Given the description of an element on the screen output the (x, y) to click on. 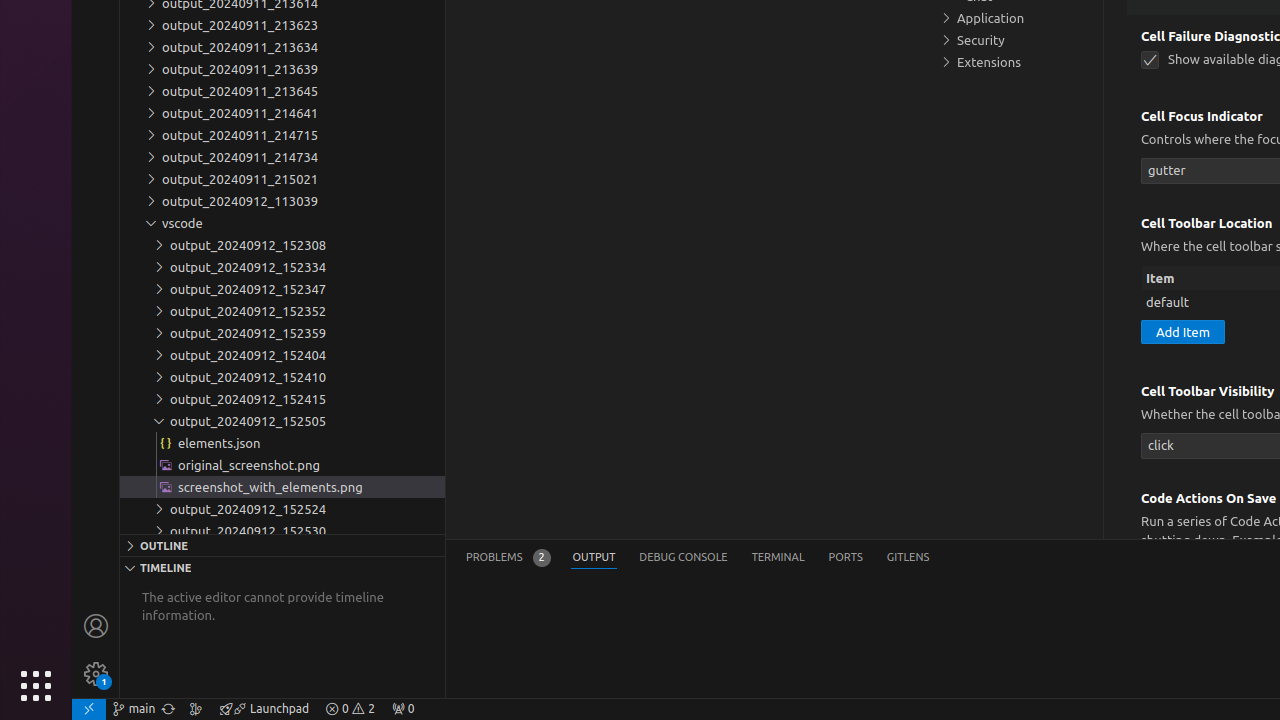
Application, group Element type: tree-item (1015, 18)
Accounts Element type: push-button (96, 626)
Warnings: 2 Element type: push-button (350, 709)
output_20240912_113039 Element type: tree-item (282, 201)
Timeline Section Element type: push-button (282, 567)
